Given the description of an element on the screen output the (x, y) to click on. 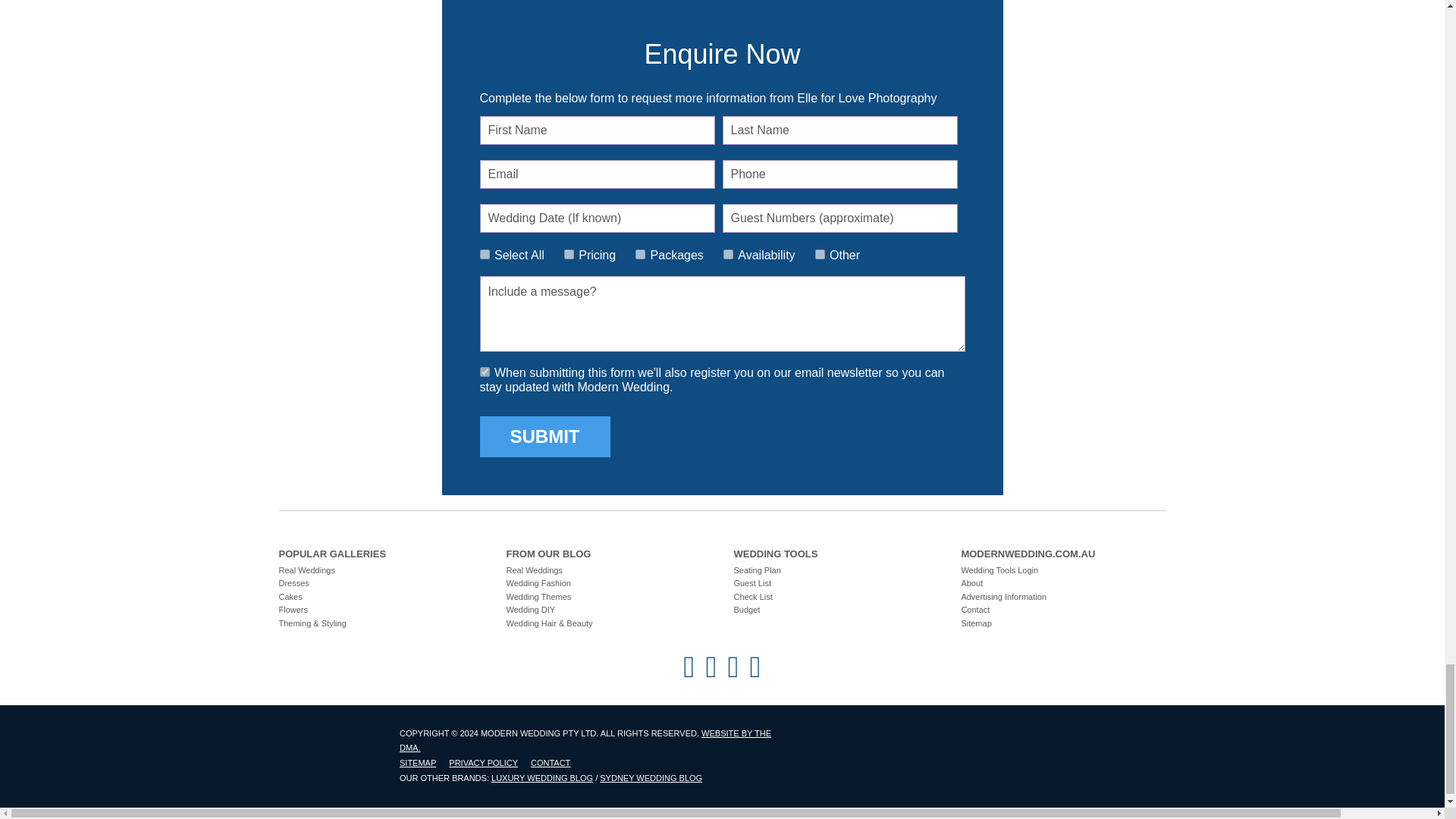
Submit (544, 436)
Pricing (568, 254)
Packages (639, 254)
Other (820, 254)
Availability (728, 254)
on (484, 254)
